Given the description of an element on the screen output the (x, y) to click on. 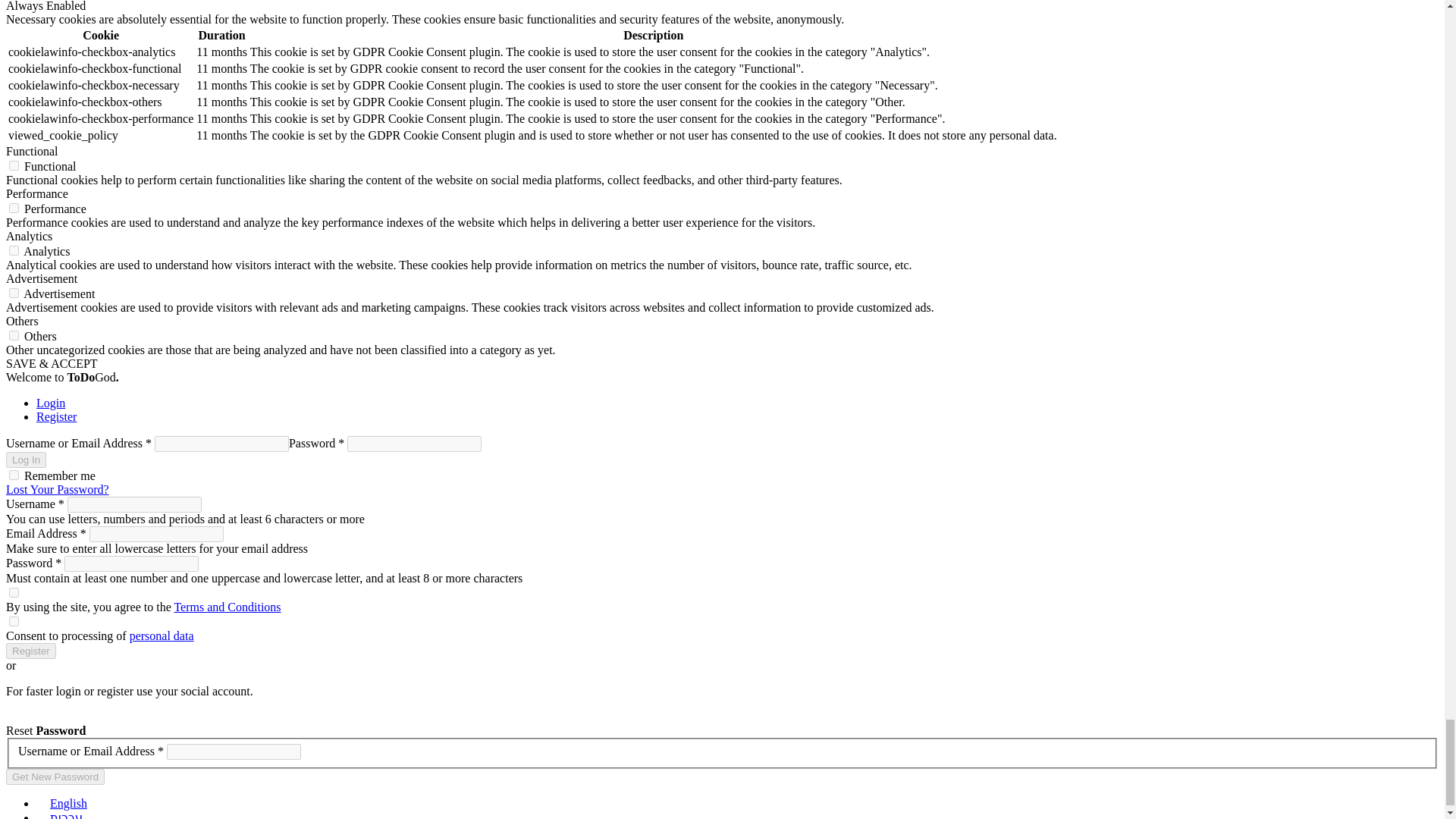
true (13, 474)
on (13, 165)
1 (13, 621)
on (13, 207)
on (13, 293)
on (13, 250)
1 (13, 592)
on (13, 335)
